Given the description of an element on the screen output the (x, y) to click on. 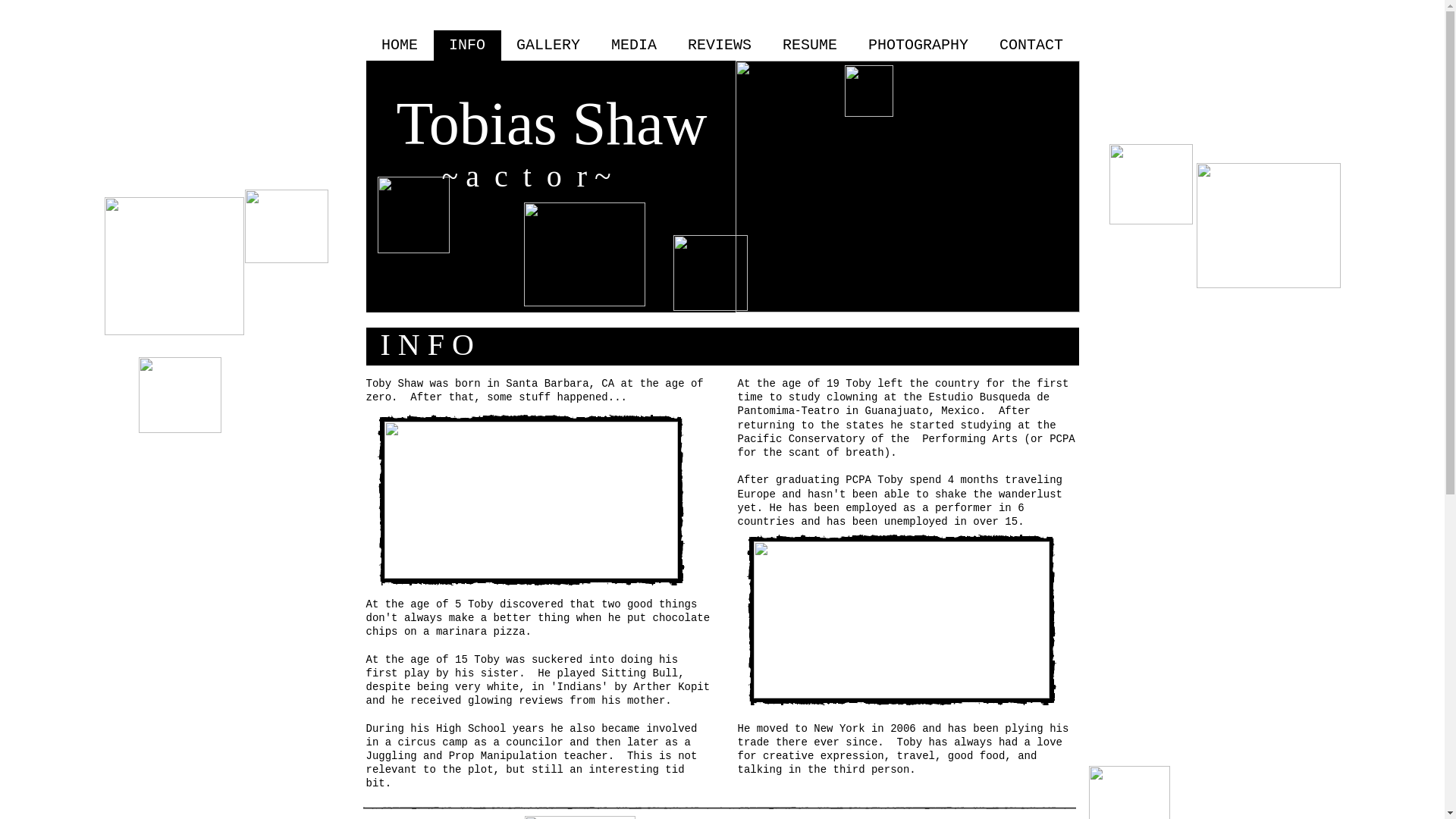
REVIEWS (719, 45)
PHOTOGRAPHY (917, 45)
CONTACT (1031, 45)
MEDIA (633, 45)
RESUME (810, 45)
HOME (398, 45)
GALLERY (547, 45)
INFO (466, 45)
